Given the description of an element on the screen output the (x, y) to click on. 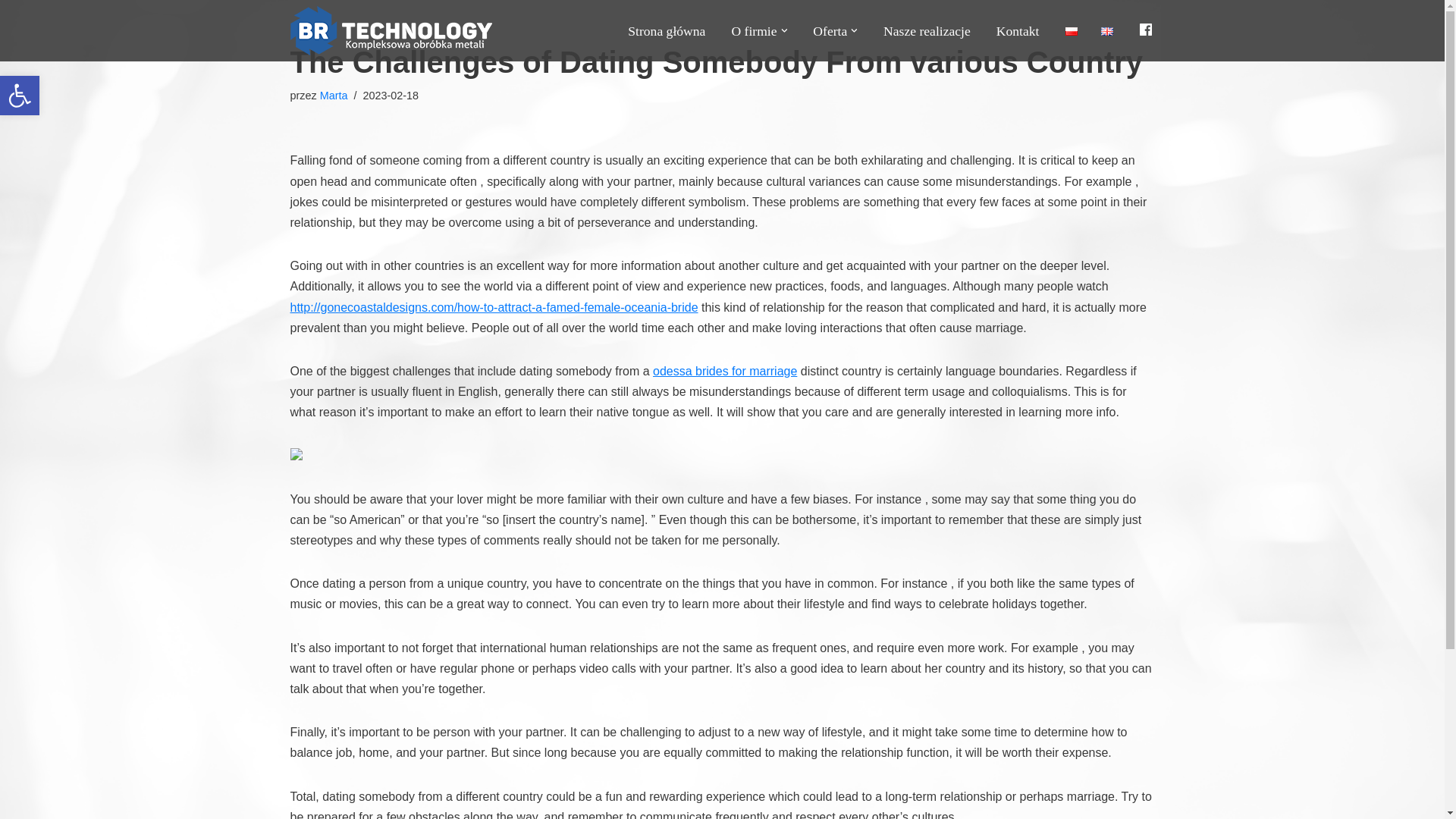
O firmie (753, 30)
Kontakt (1017, 30)
Nasze realizacje (927, 30)
Wpisy od Marta (333, 95)
